Given the description of an element on the screen output the (x, y) to click on. 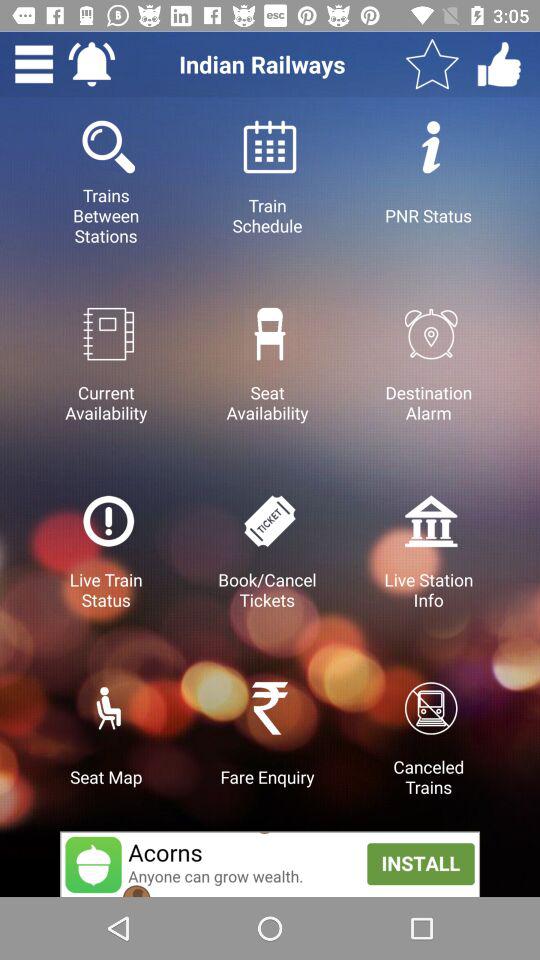
see more options (33, 64)
